Given the description of an element on the screen output the (x, y) to click on. 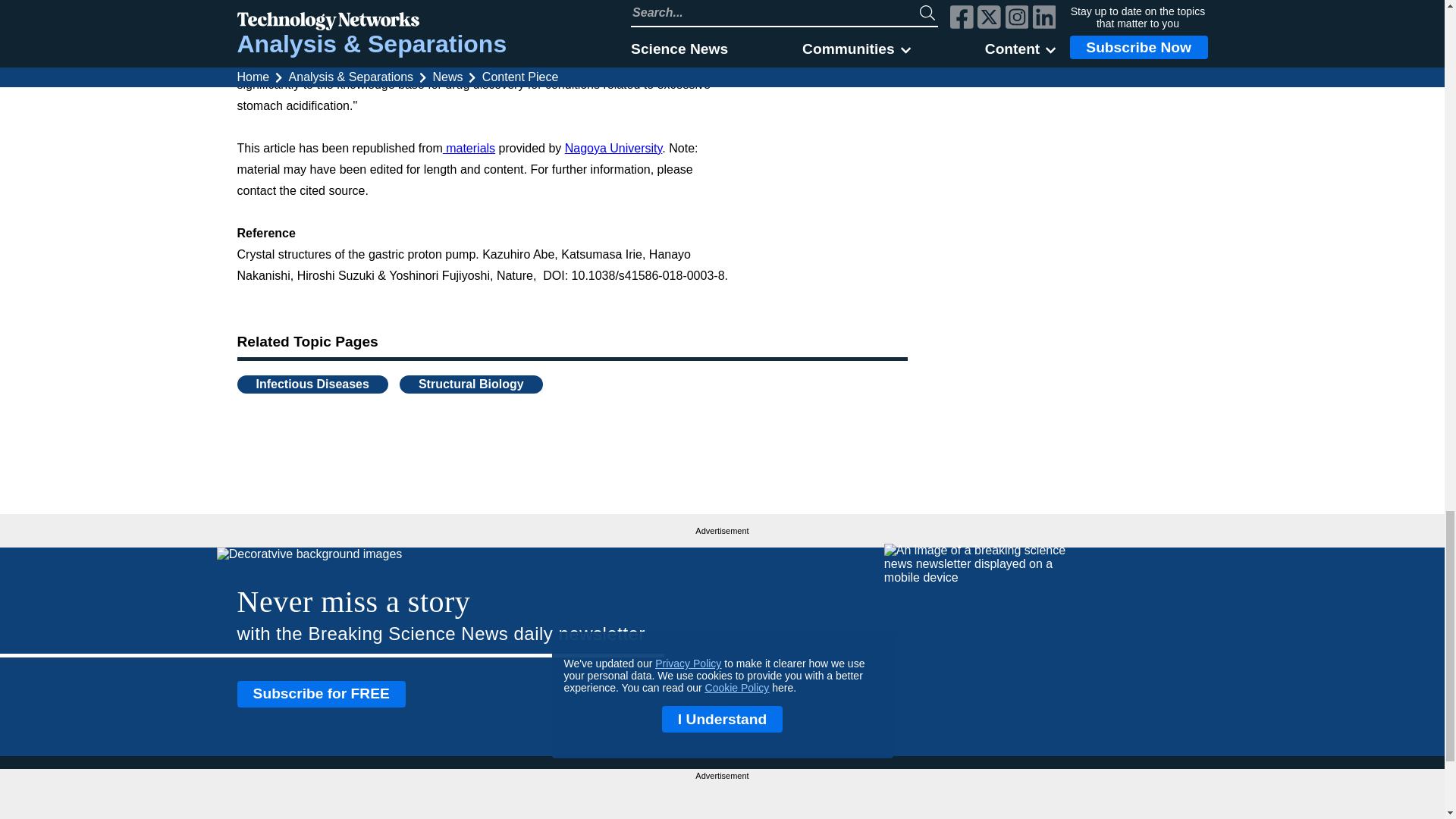
Link to Technology Networks' instagram page (1171, 804)
Link to Technology Networks' linkedin page (1196, 804)
Link to Technology Networks' facebook page (1115, 804)
Link to Technology Networks' twitter page (1143, 804)
